Given the description of an element on the screen output the (x, y) to click on. 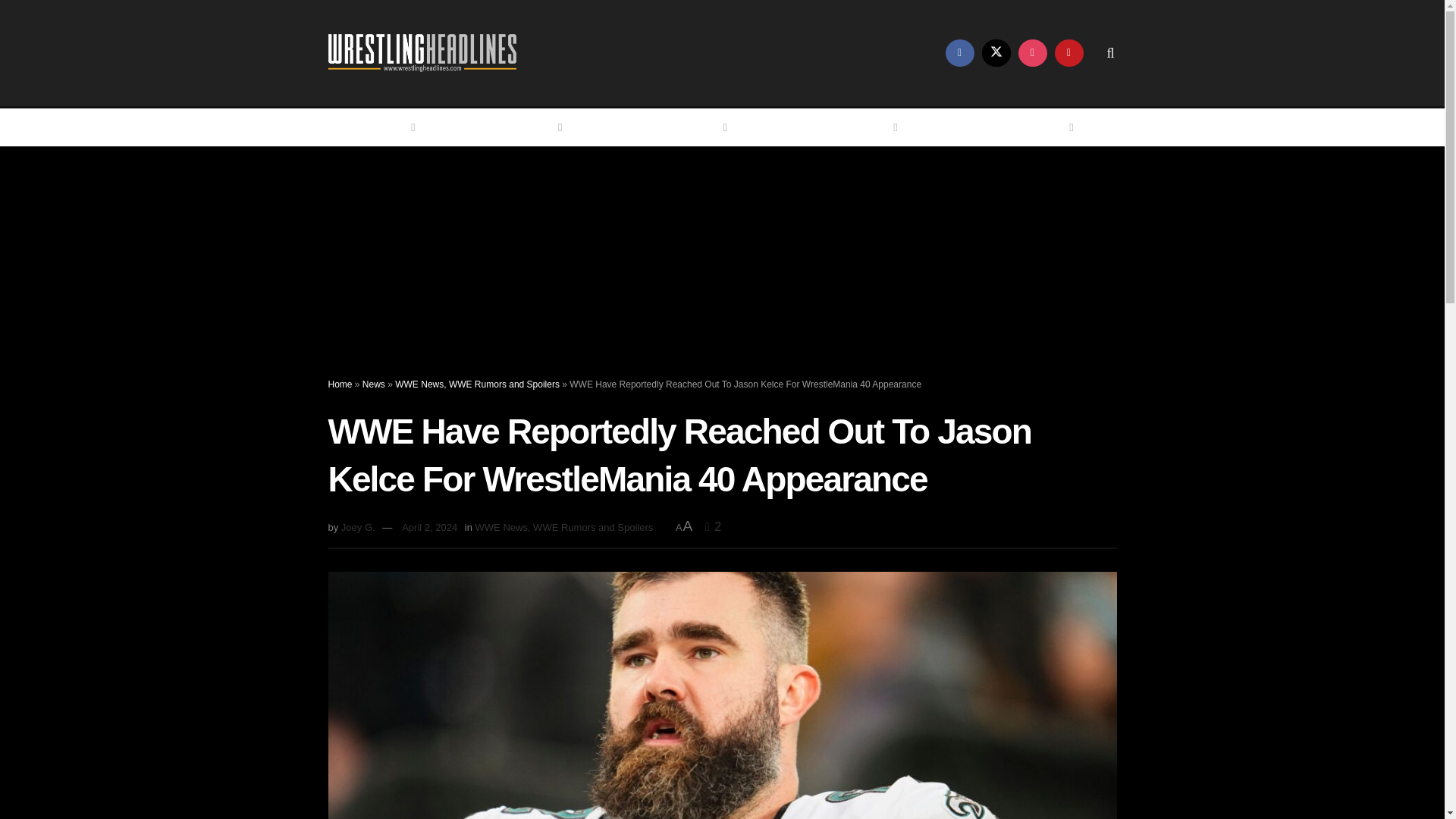
NEWS (539, 127)
COLUMNS (863, 127)
HOME (392, 127)
RESULTS (695, 127)
